Given the description of an element on the screen output the (x, y) to click on. 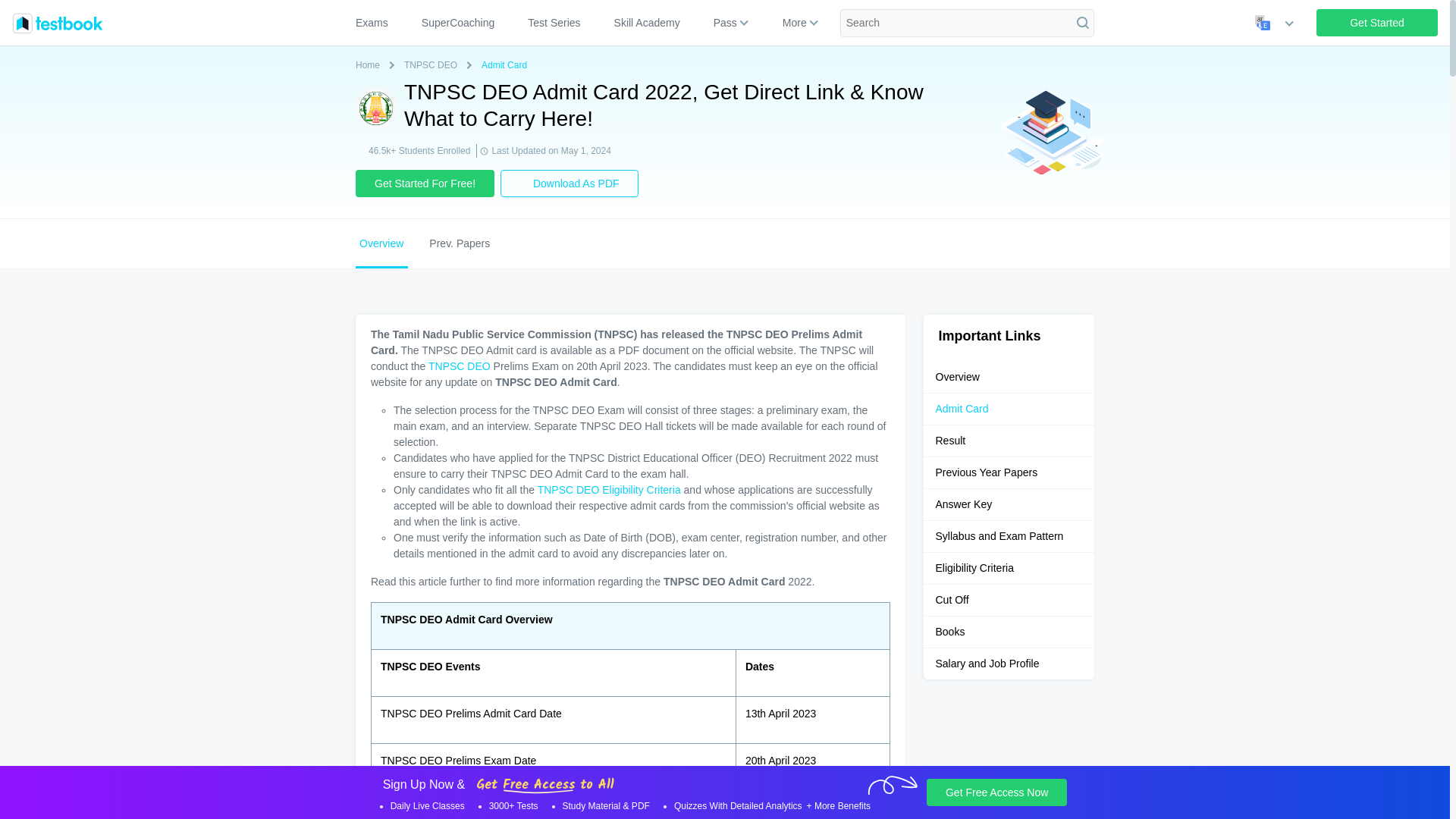
TNPSC DEO (433, 65)
Download As PDF (569, 183)
Pass (725, 22)
TNPSC DEO (459, 366)
Get Started (1377, 22)
Test Series (553, 22)
More (794, 22)
Skill Academy (647, 22)
Home (370, 65)
Exams (377, 22)
